Given the description of an element on the screen output the (x, y) to click on. 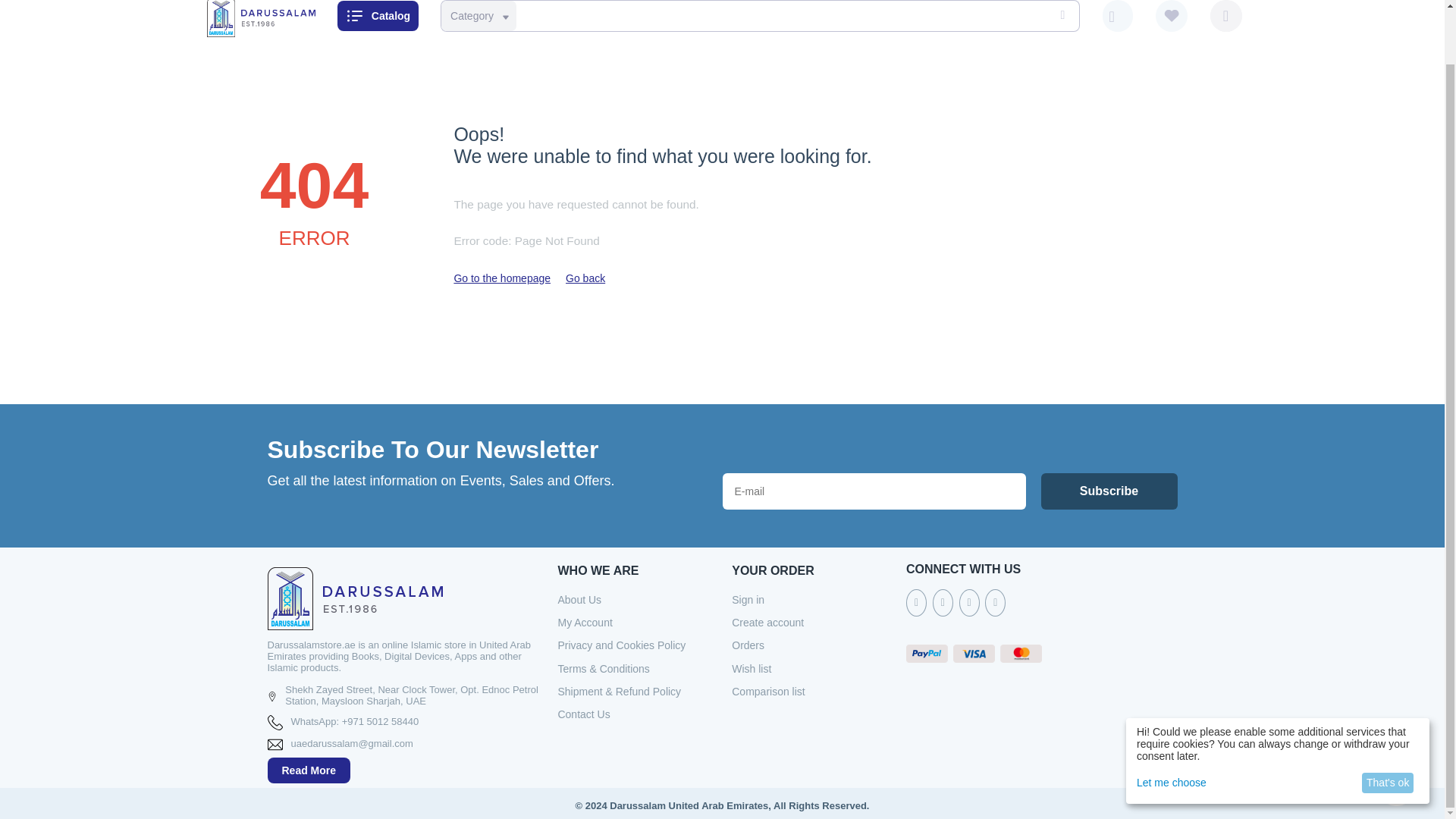
Search (1060, 15)
Darussalam Publishers (260, 15)
Search products (757, 15)
